Given the description of an element on the screen output the (x, y) to click on. 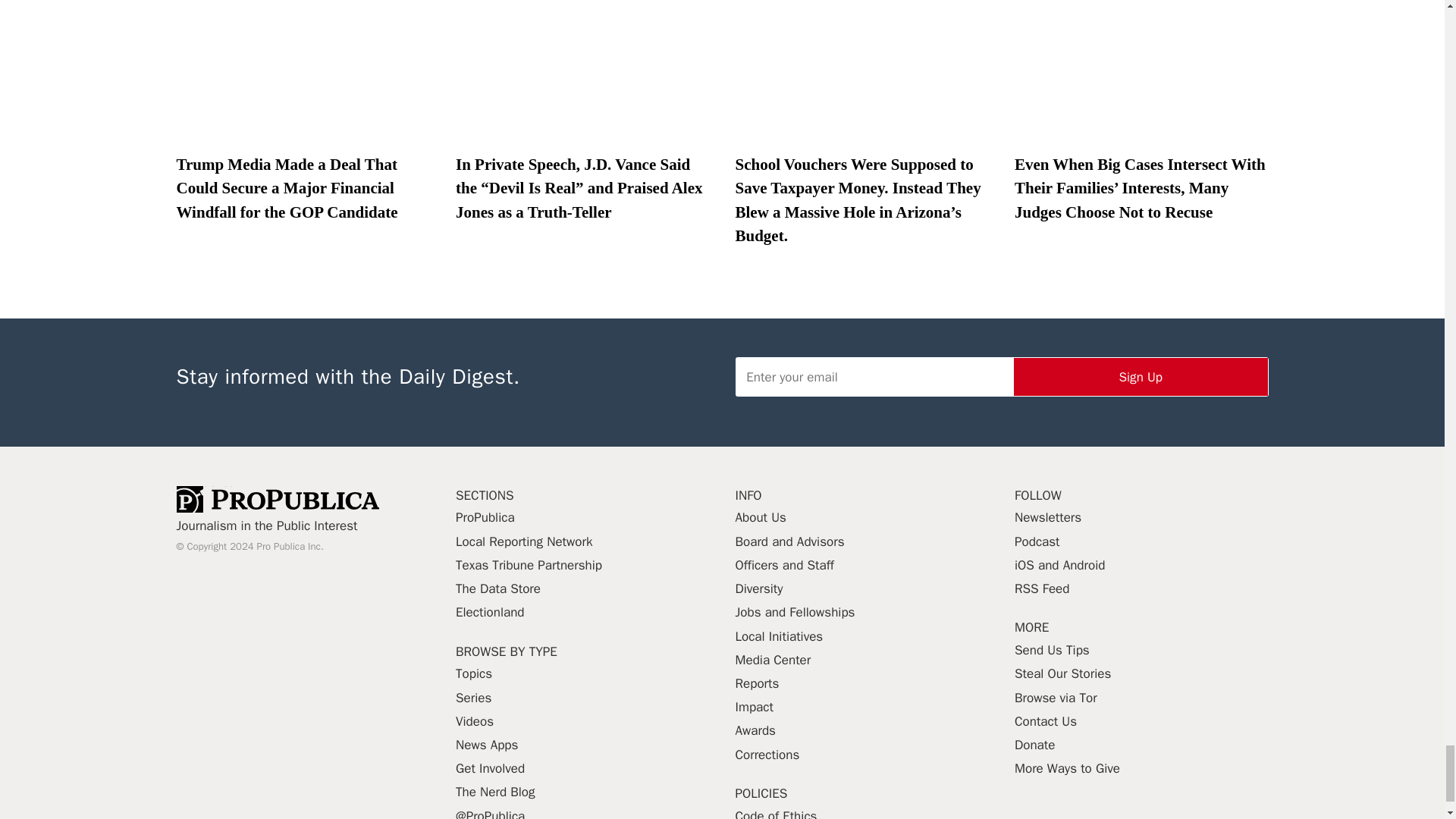
Sign Up (1140, 376)
